Given the description of an element on the screen output the (x, y) to click on. 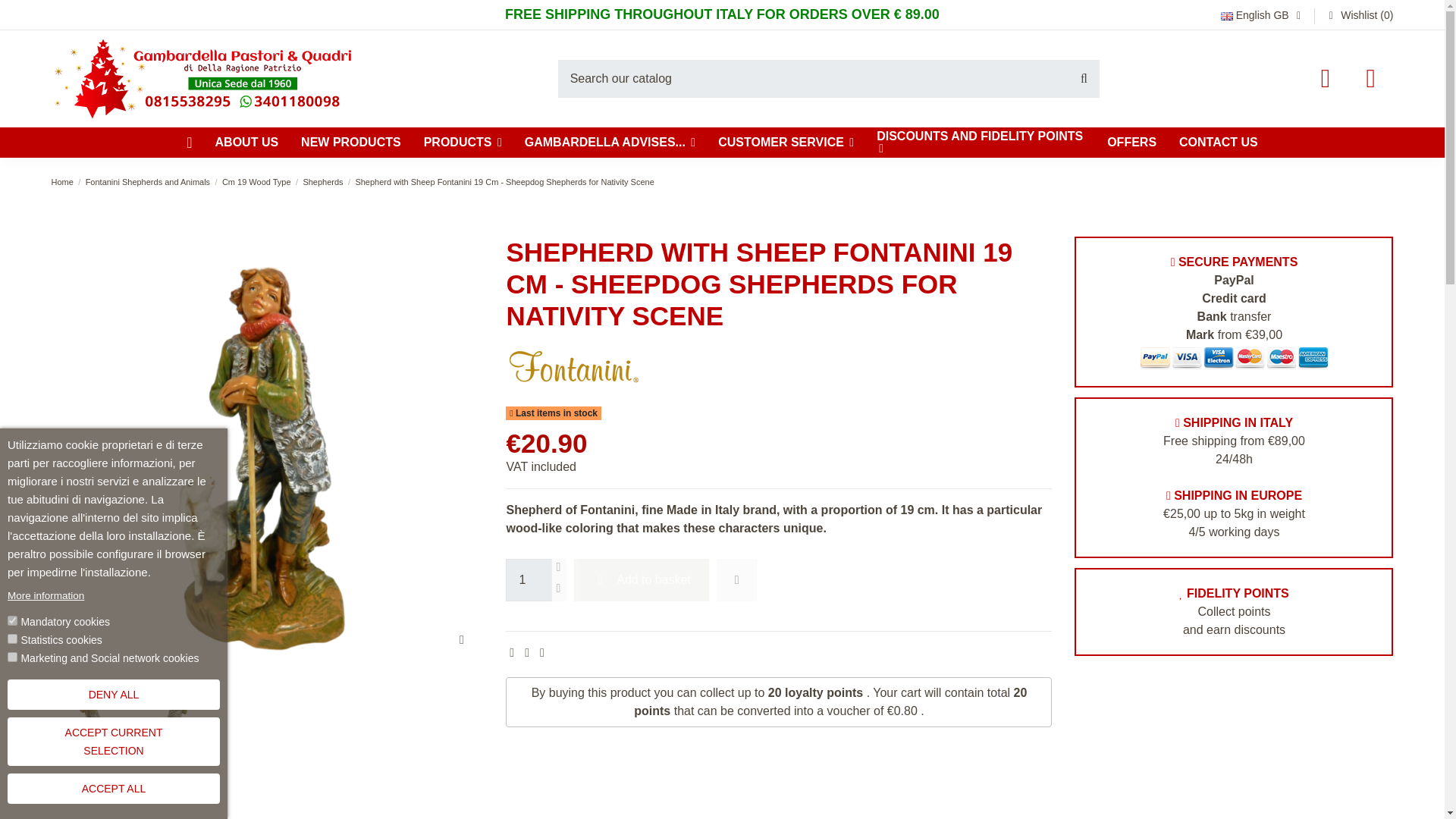
on (12, 656)
Log in to your customer account (1325, 78)
1 (528, 579)
ABOUT US (246, 142)
English GB (1263, 15)
on (12, 638)
on (12, 620)
NEW PRODUCTS (350, 142)
